Given the description of an element on the screen output the (x, y) to click on. 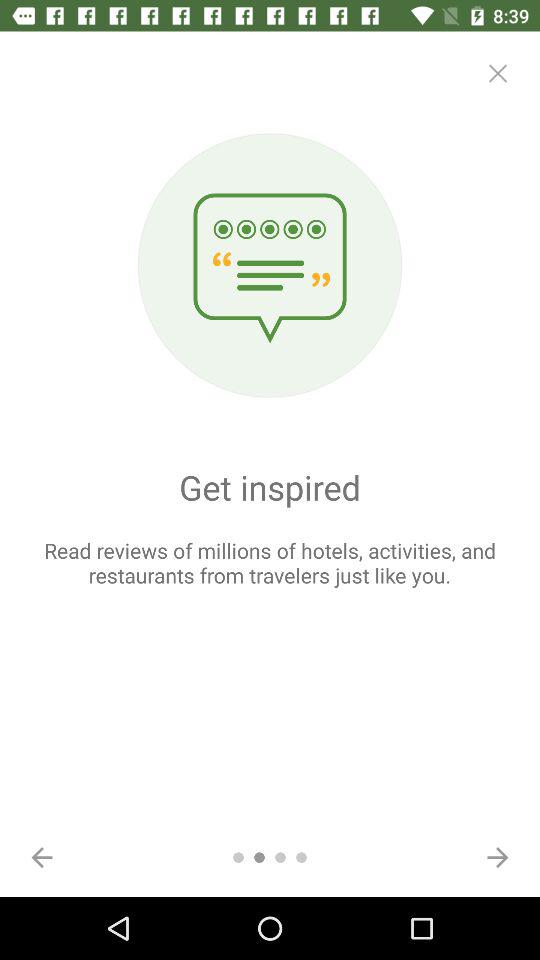
click item above the read reviews of icon (497, 73)
